Given the description of an element on the screen output the (x, y) to click on. 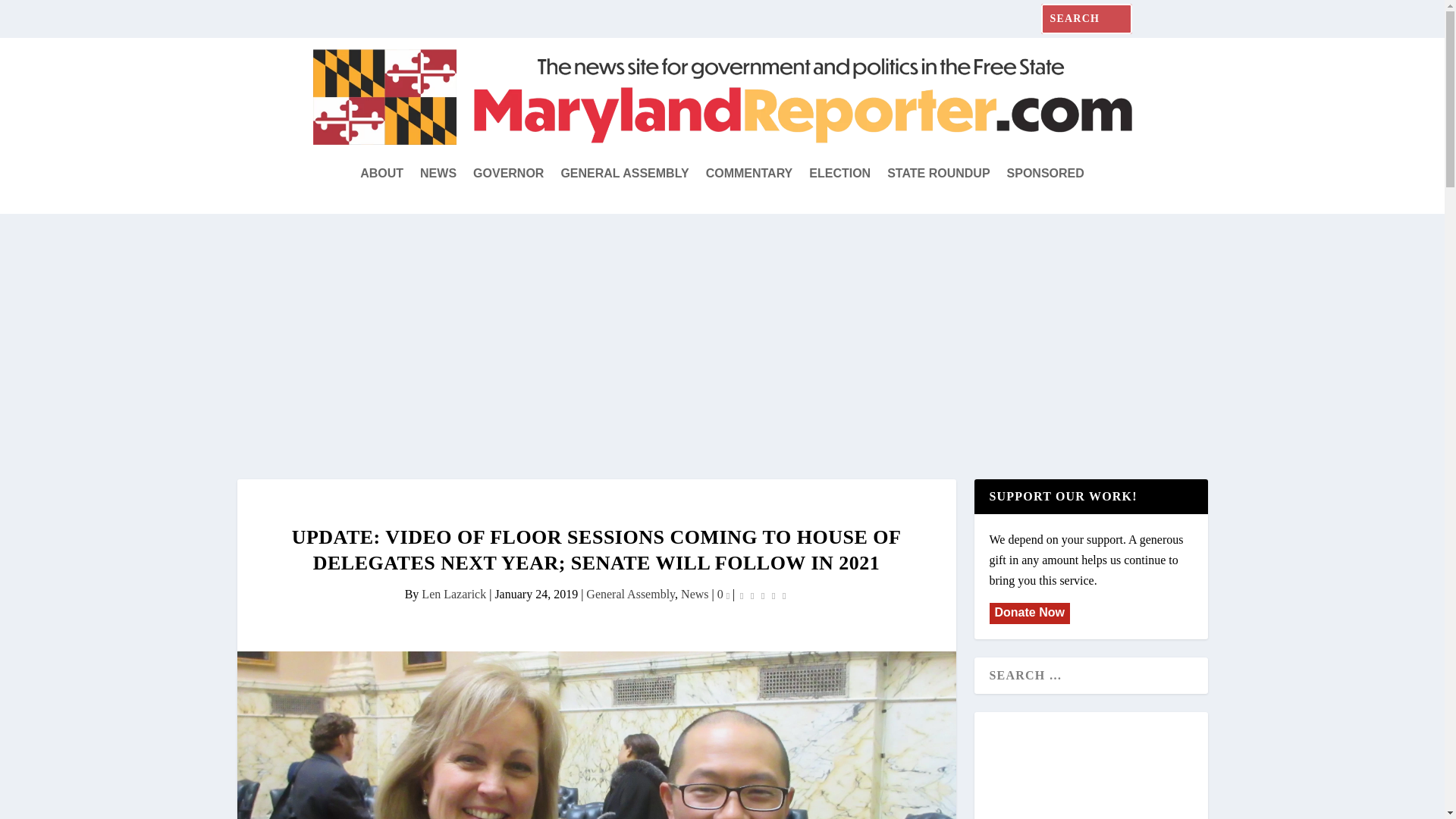
Posts by Len Lazarick (454, 594)
Donate Now (1028, 612)
0 (723, 594)
ELECTION (839, 173)
Len Lazarick (454, 594)
STATE ROUNDUP (938, 173)
SPONSORED (1045, 173)
GENERAL ASSEMBLY (624, 173)
COMMENTARY (749, 173)
Search (29, 15)
